Given the description of an element on the screen output the (x, y) to click on. 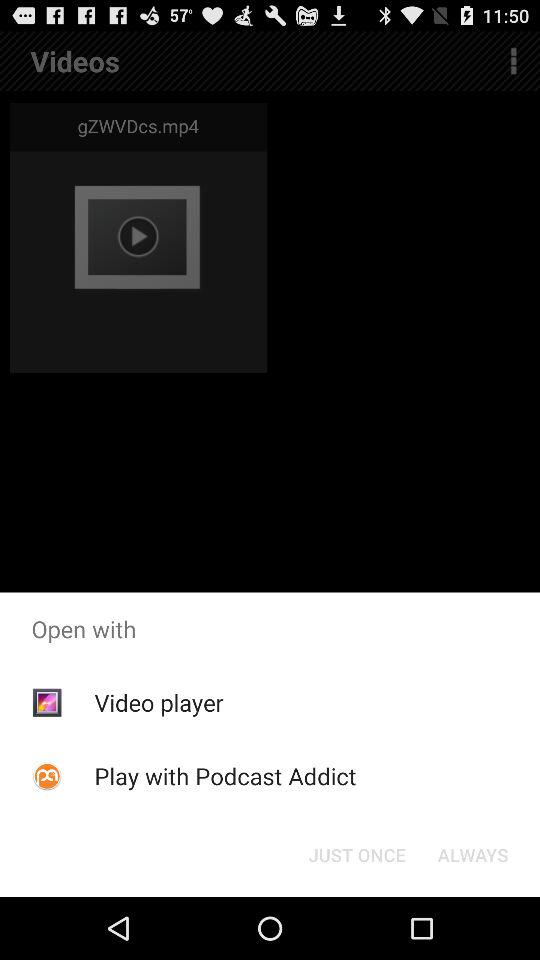
flip to the video player icon (158, 702)
